Given the description of an element on the screen output the (x, y) to click on. 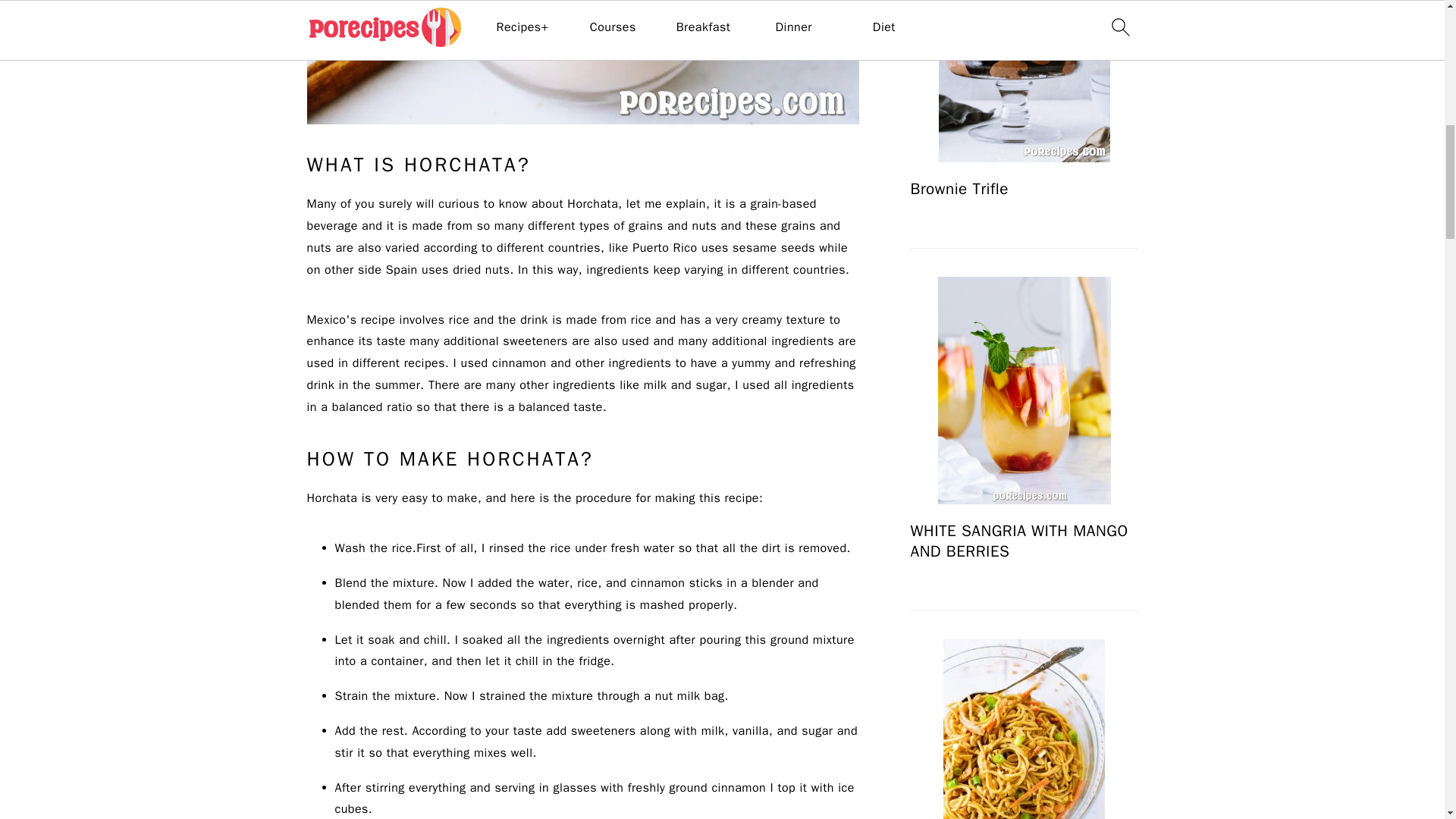
Brownie Trifle (1023, 81)
WHITE SANGRIA WITH MANGO AND BERRIES (1023, 390)
Cold Noodles in Peanut Sauce (1023, 729)
